Given the description of an element on the screen output the (x, y) to click on. 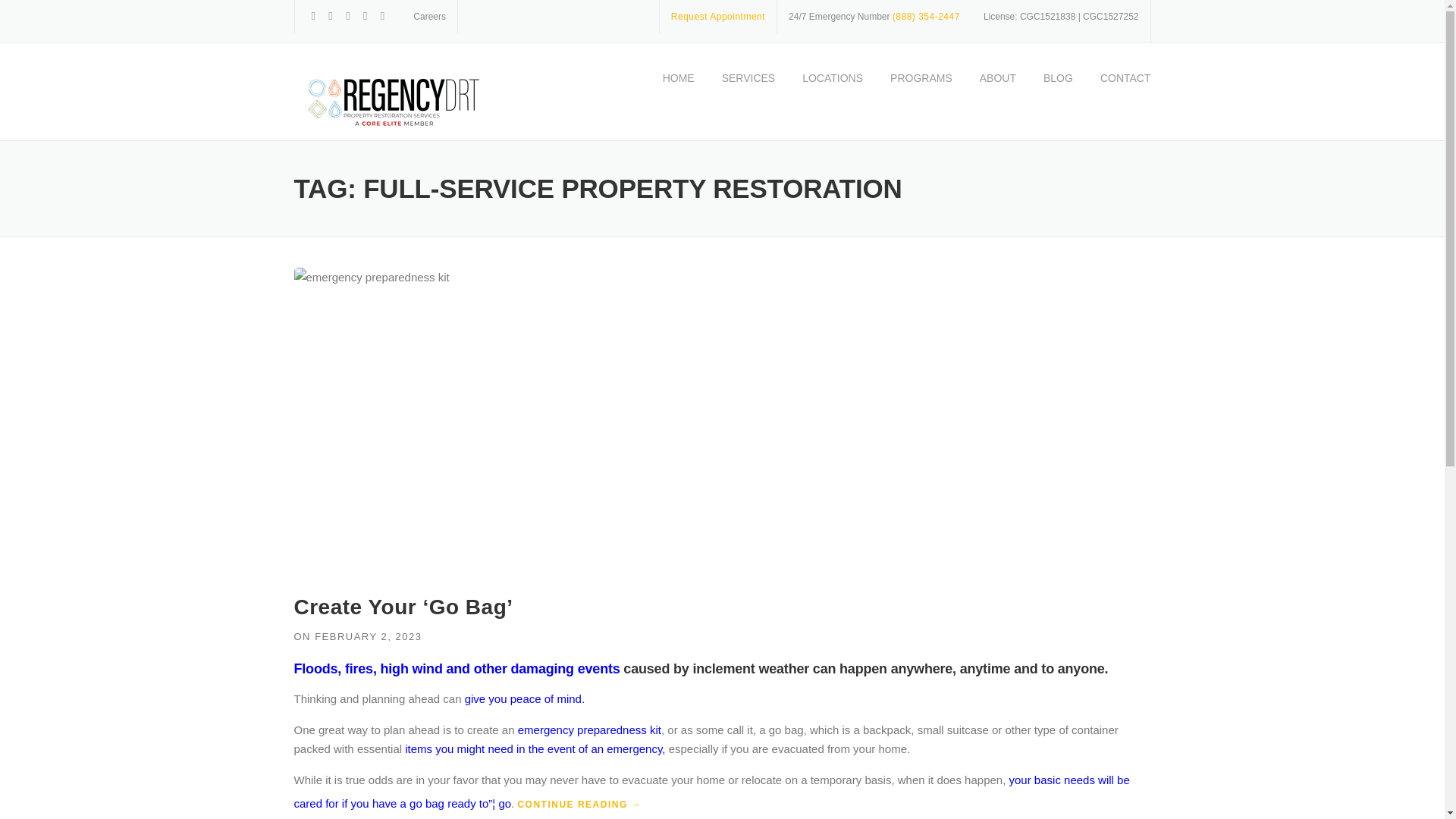
HOME (678, 91)
Request Appointment (718, 16)
CGC1527252 (1110, 16)
Careers (429, 16)
LOCATIONS (832, 91)
CGC1521838 (1047, 16)
Regency Disaster Response Team (391, 101)
SERVICES (748, 91)
